Given the description of an element on the screen output the (x, y) to click on. 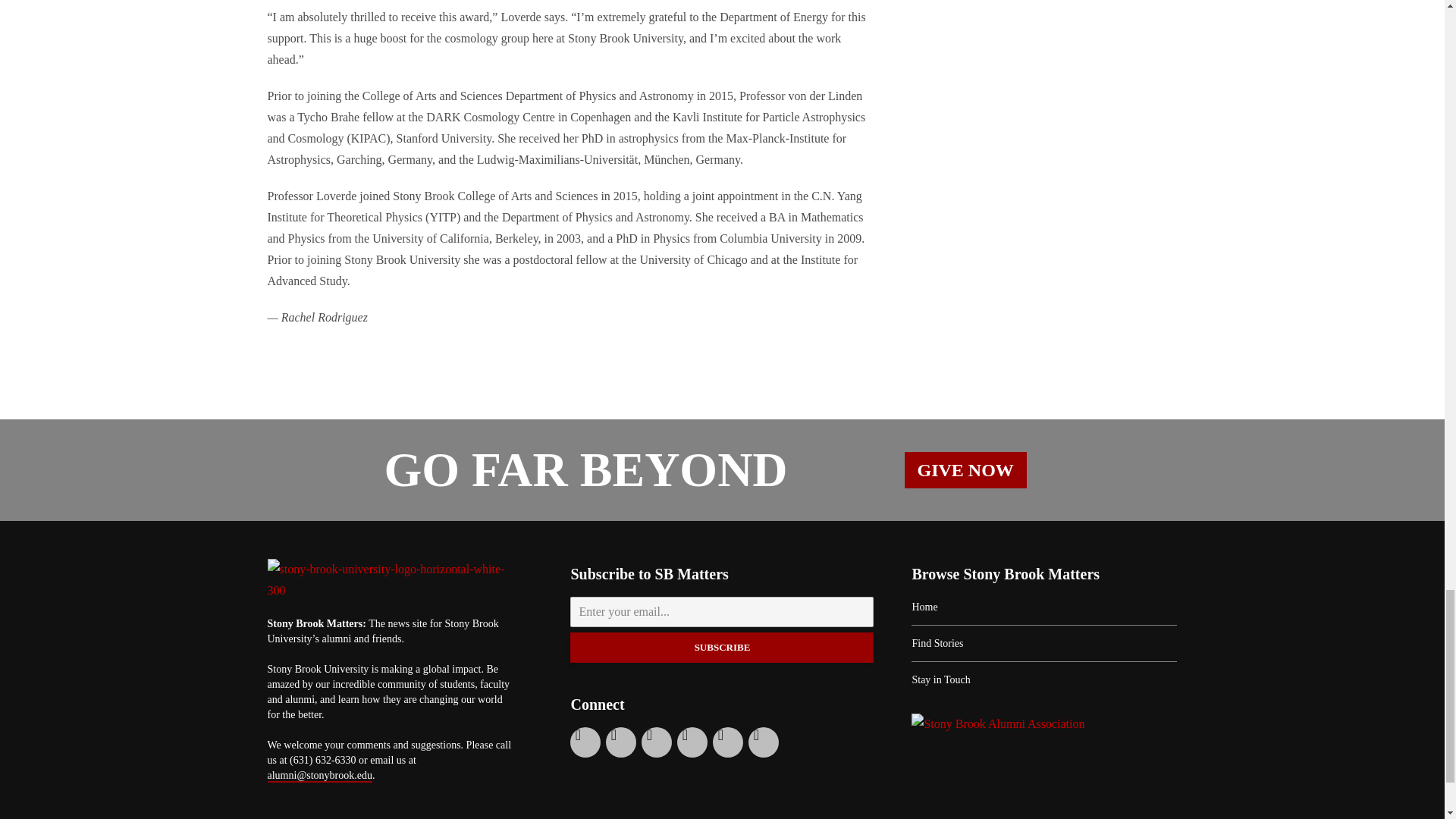
stony-brook-university-logo-horizontal-white-300 (389, 579)
